Given the description of an element on the screen output the (x, y) to click on. 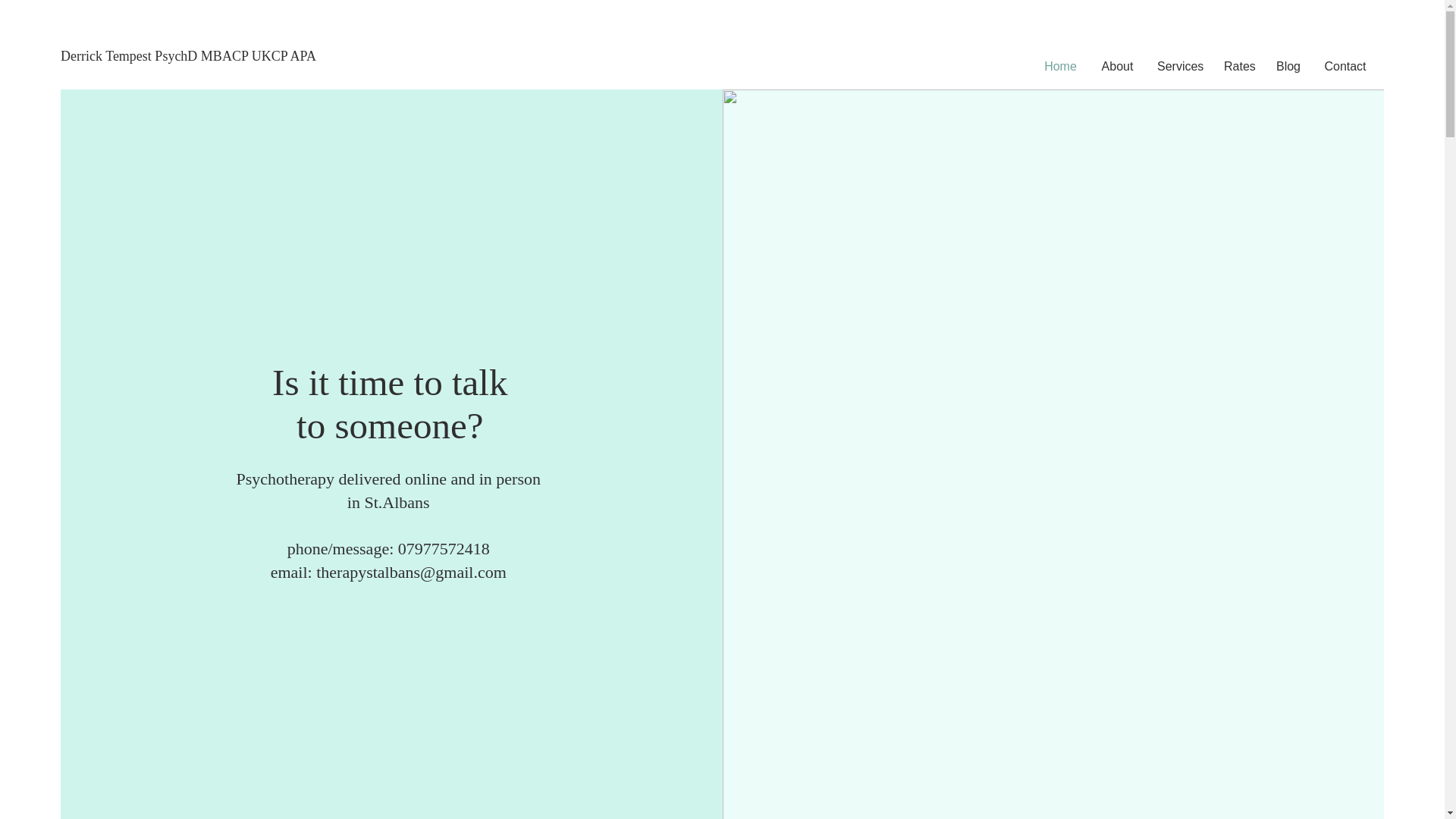
Contact (1345, 66)
Home (1060, 66)
About (1117, 66)
Derrick Tempest PsychD MBACP UKCP APA (198, 56)
Blog (1288, 66)
Services (1178, 66)
Rates (1237, 66)
